Given the description of an element on the screen output the (x, y) to click on. 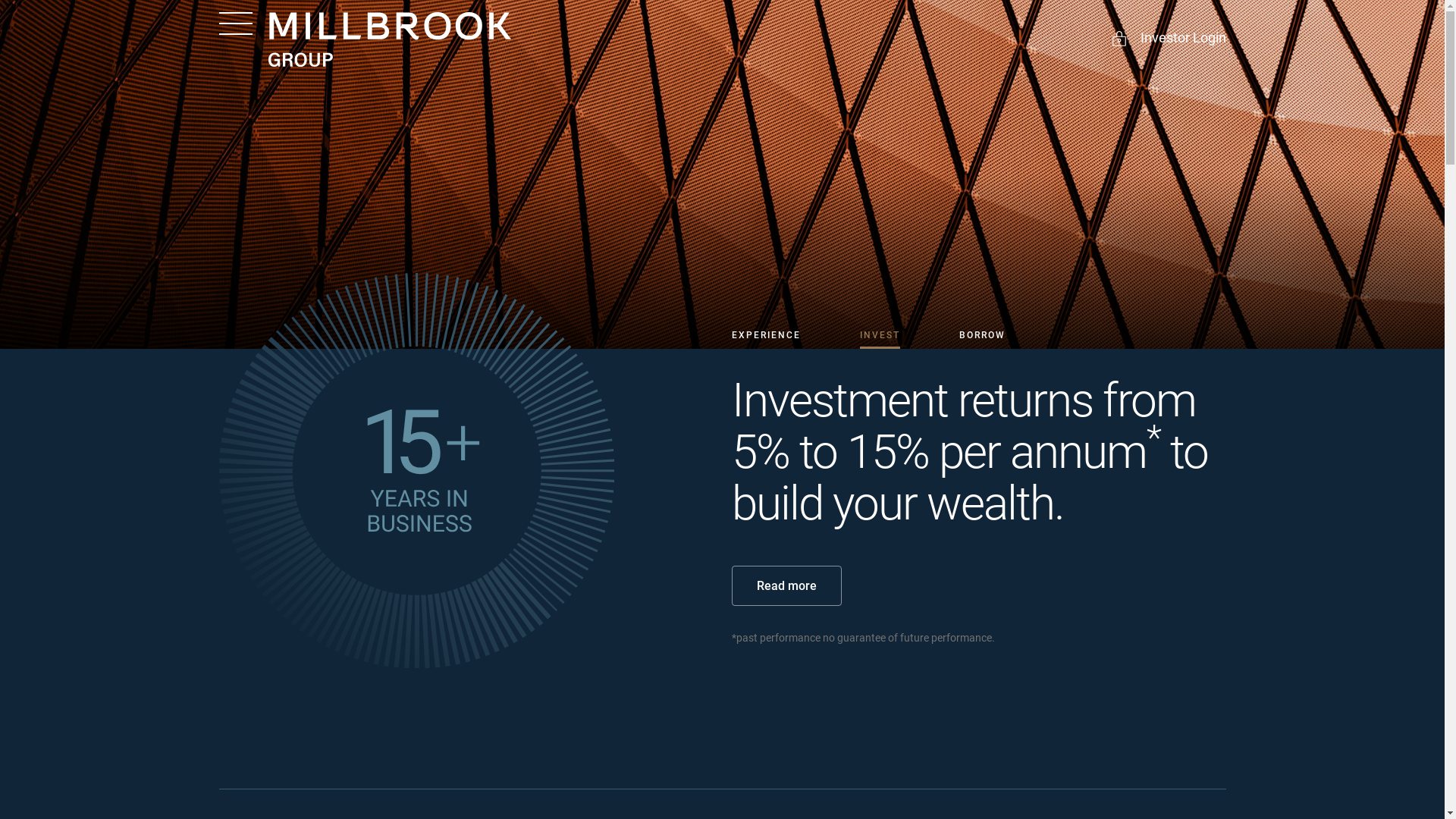
INVEST Element type: text (879, 334)
Millbrook home page Element type: hover (389, 39)
BORROW Element type: text (981, 334)
Investor Login Element type: text (1168, 39)
EXPERIENCE Element type: text (765, 334)
Read more Element type: text (785, 585)
